Given the description of an element on the screen output the (x, y) to click on. 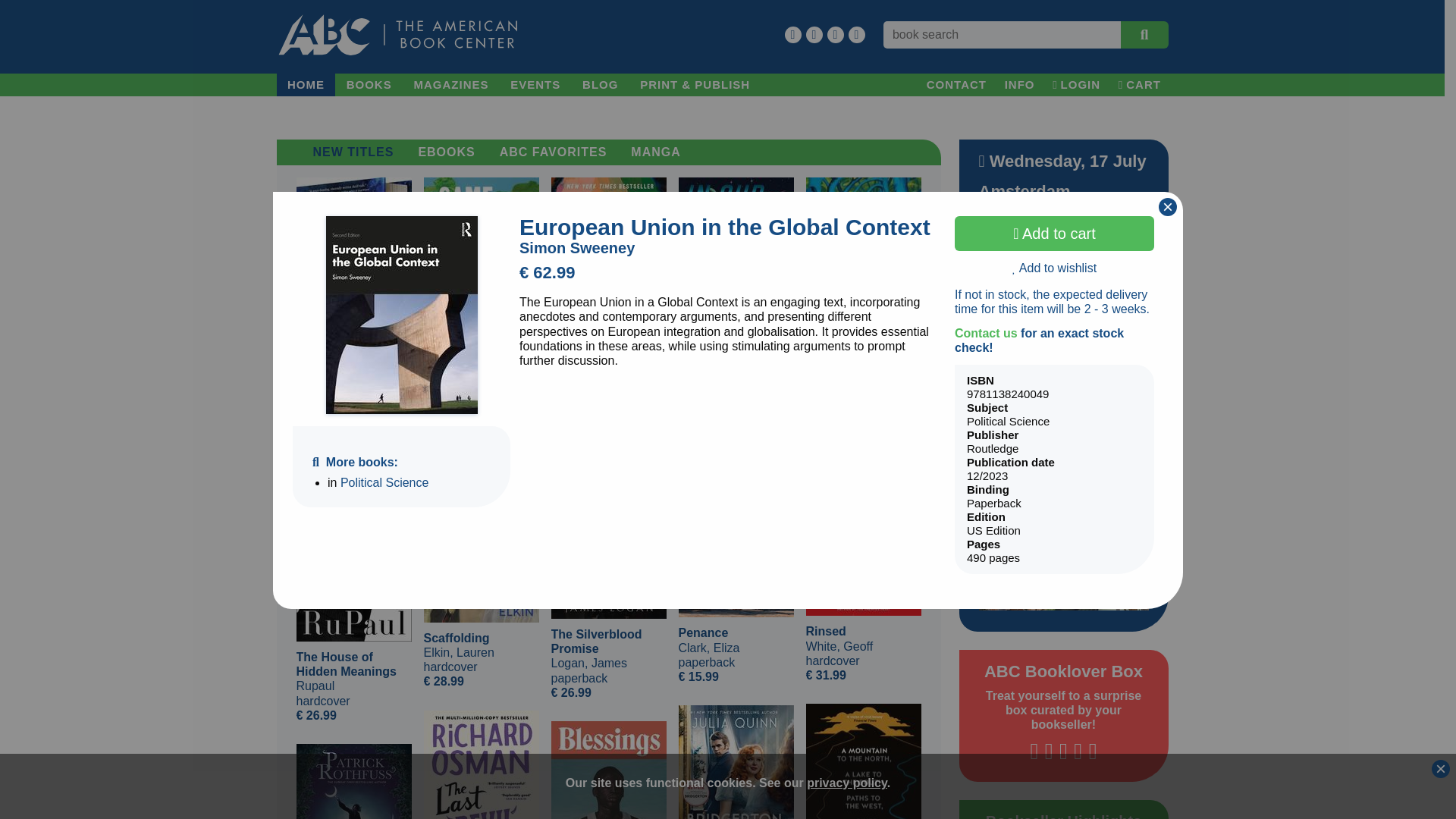
Same As It Ever Was (480, 263)
The Last Devil To Die (480, 764)
CART (1138, 84)
HOME (305, 84)
BOOKS (368, 84)
CONTACT (955, 84)
Hello Beautiful (607, 266)
Scaffolding (480, 529)
LOGIN (1076, 84)
BLOG (600, 84)
The Extinction of Irena Rey (862, 255)
INFO (1019, 84)
EVENTS (535, 84)
MAGAZINES (451, 84)
The Narrow Road Between Desires (352, 781)
